Given the description of an element on the screen output the (x, y) to click on. 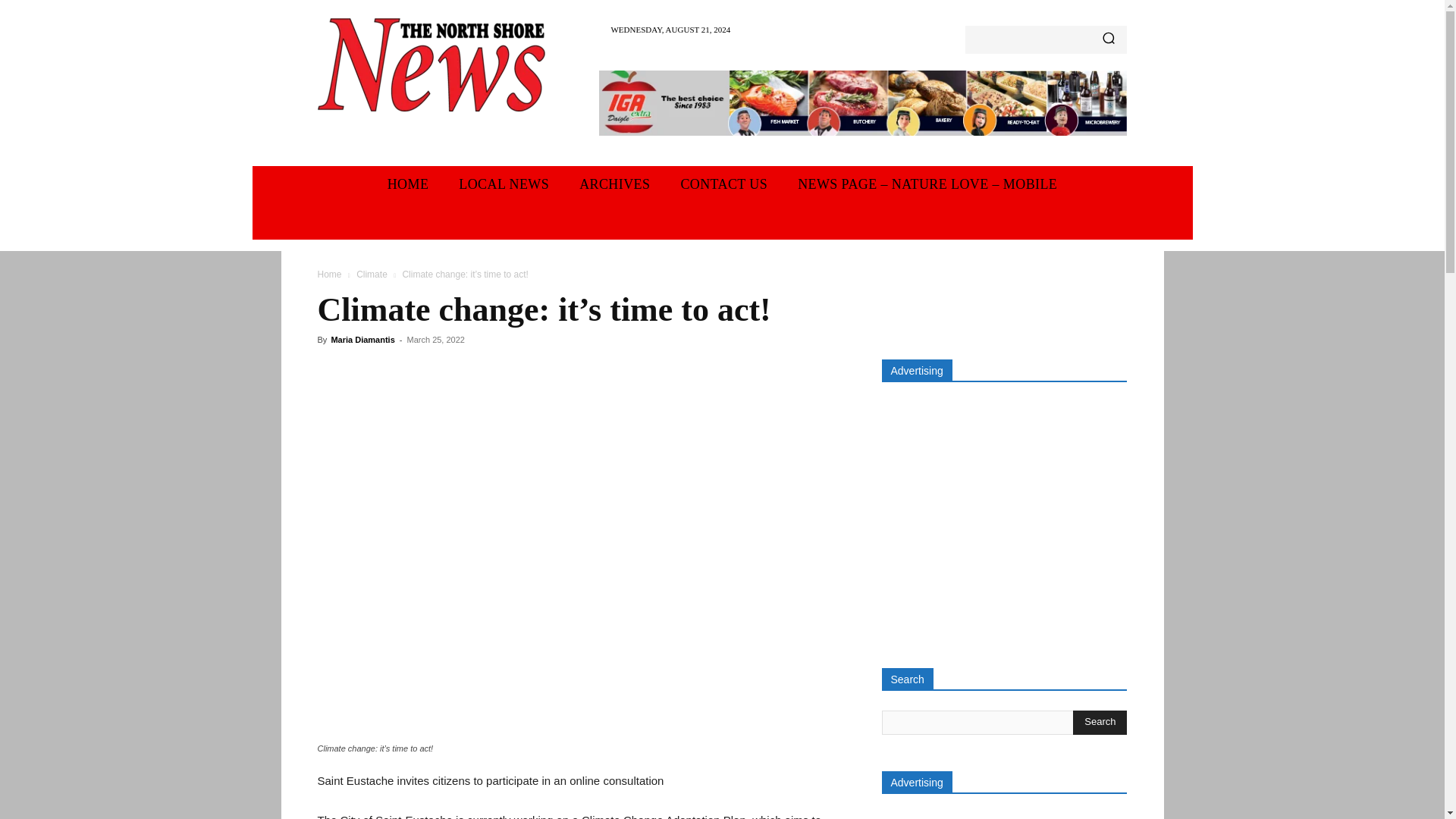
CONTACT US (724, 184)
View all posts in Climate (371, 274)
Logo of North Shore News (430, 64)
Logo of North Shore News (430, 64)
ARCHIVES (614, 184)
HOME (408, 184)
LOCAL NEWS (504, 184)
Search (1099, 722)
